Given the description of an element on the screen output the (x, y) to click on. 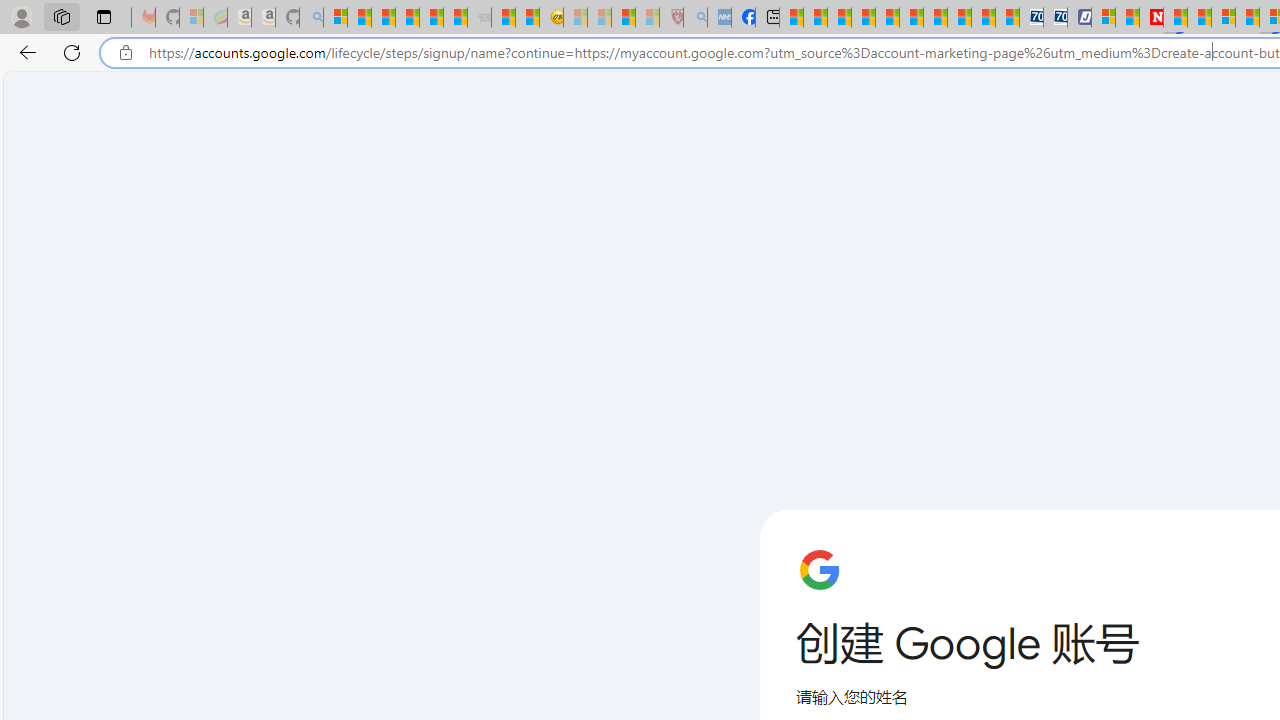
Cheap Car Rentals - Save70.com (1031, 17)
Latest Politics News & Archive | Newsweek.com (1151, 17)
The Weather Channel - MSN (383, 17)
World - MSN (839, 17)
